Given the description of an element on the screen output the (x, y) to click on. 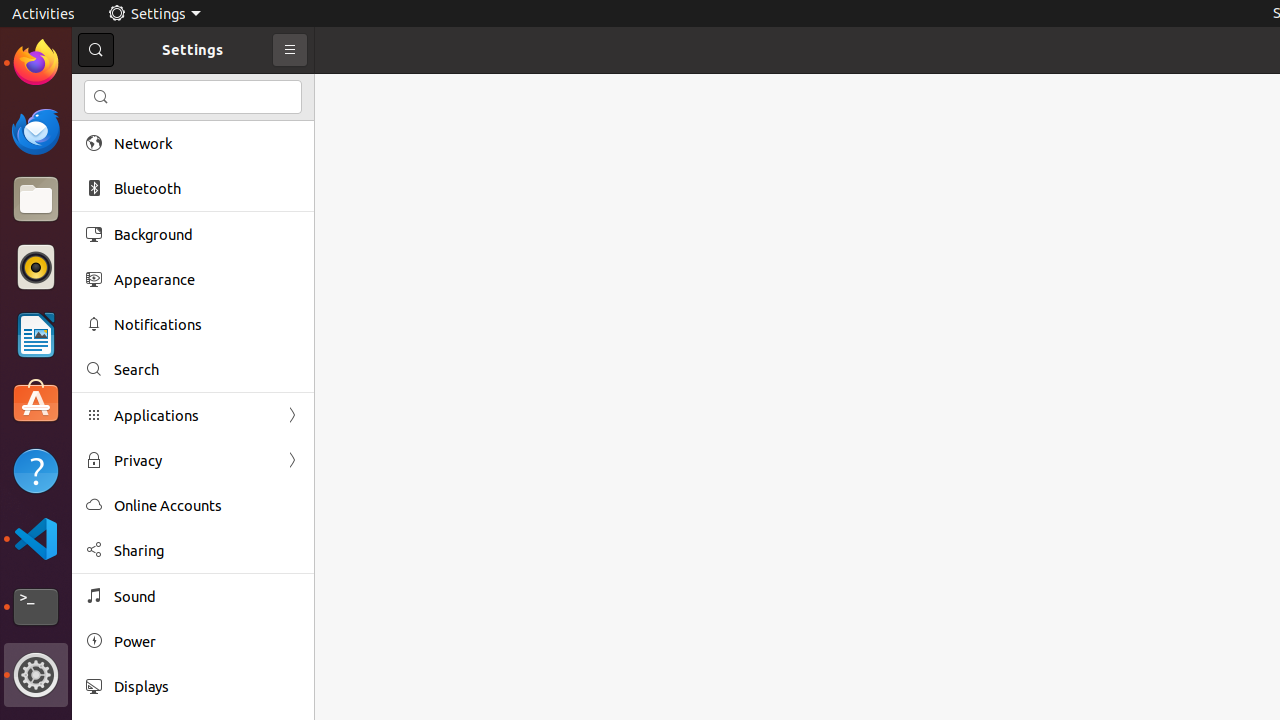
Settings Element type: menu (154, 13)
Applications Element type: label (193, 415)
Power Element type: label (207, 641)
Bluetooth Element type: label (207, 188)
